Given the description of an element on the screen output the (x, y) to click on. 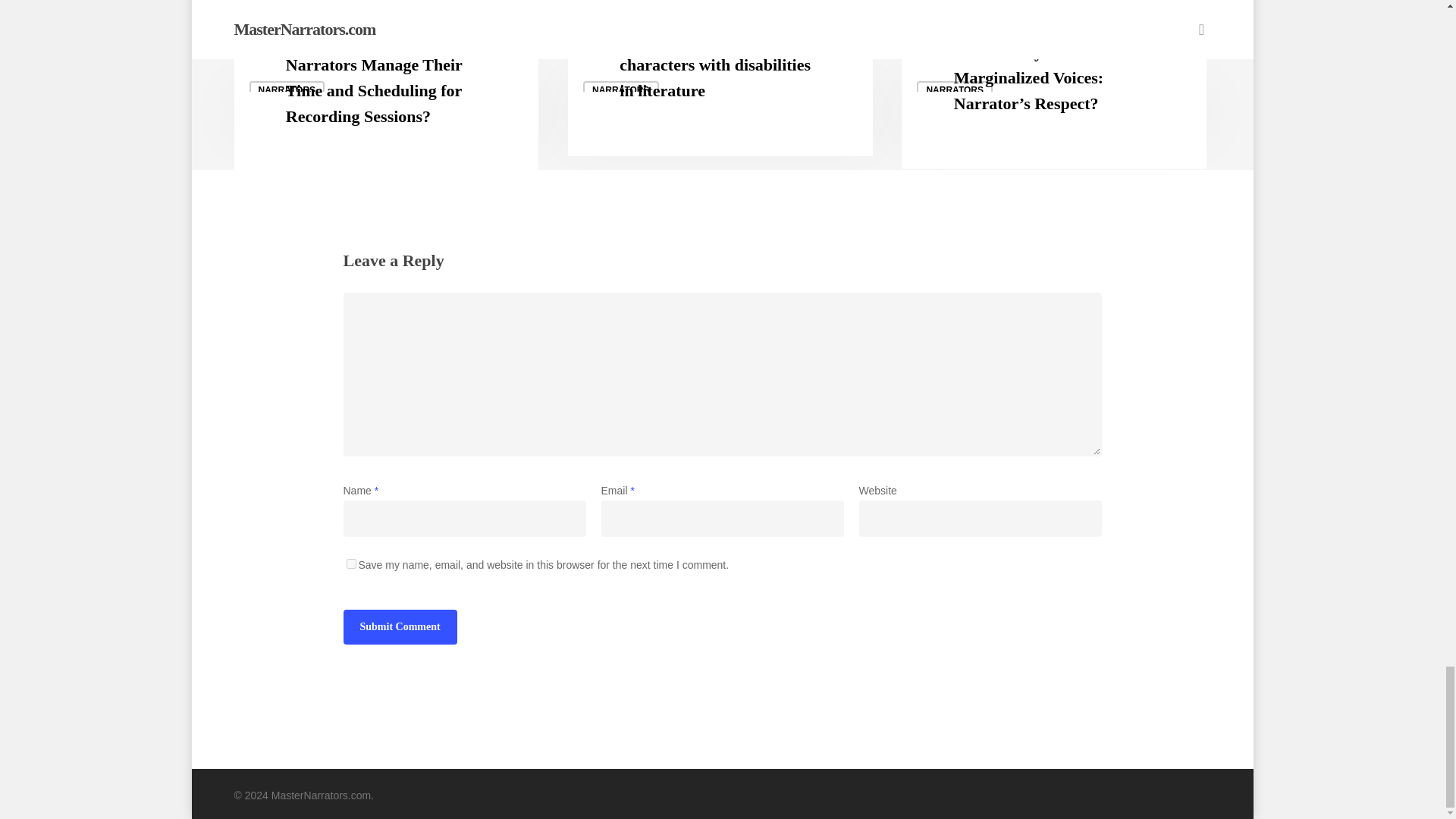
Submit Comment (399, 626)
NARRATORS (954, 90)
Submit Comment (399, 626)
NARRATORS (286, 90)
NARRATORS (621, 90)
yes (350, 563)
